Given the description of an element on the screen output the (x, y) to click on. 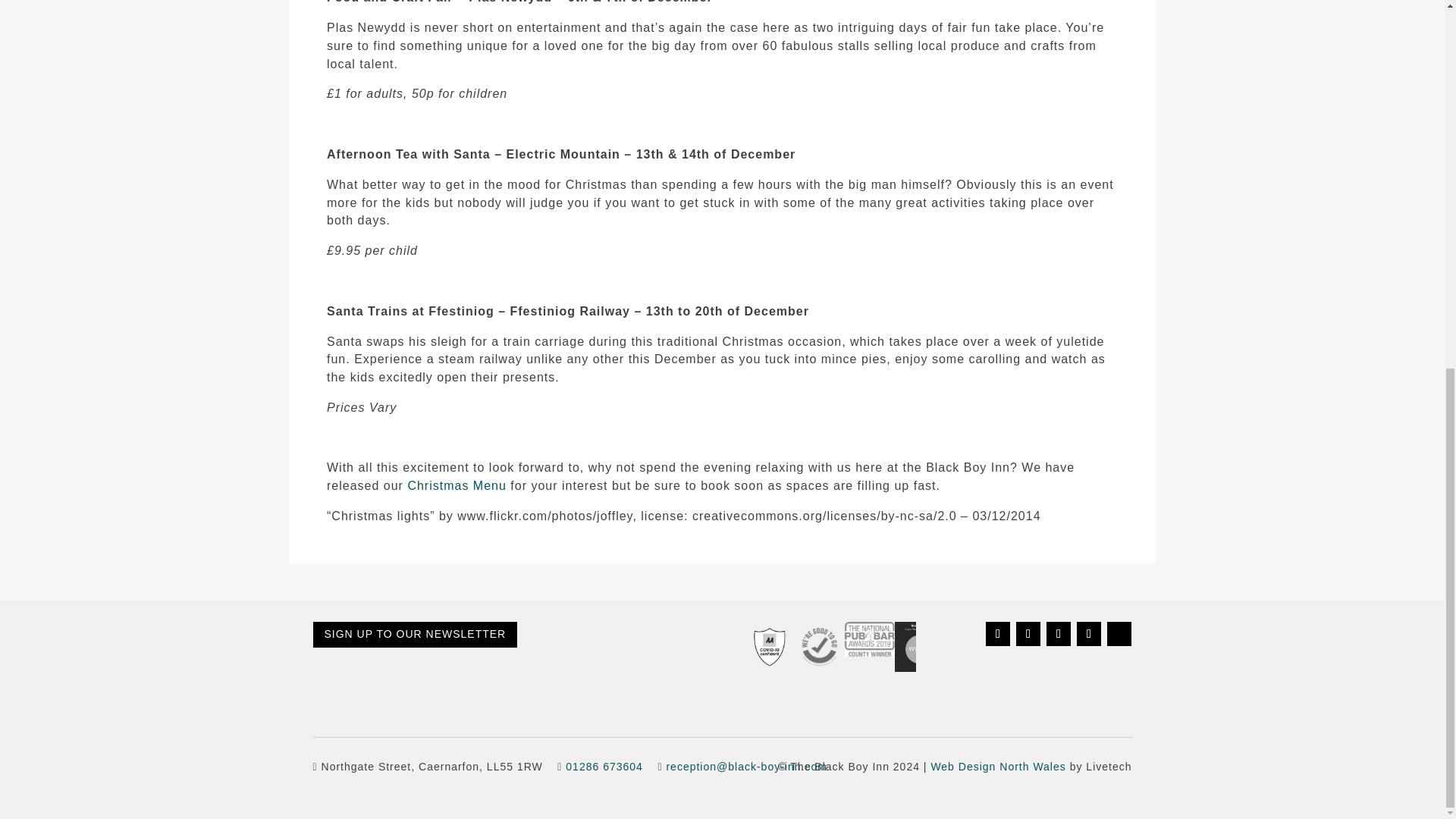
Web Design North Wales - Livetech (997, 766)
Follow on Facebook (997, 633)
Follow on Instagram (1058, 633)
Follow on Youtube (1088, 633)
Follow on Twitter (1028, 633)
Follow on glass door (1118, 633)
